Given the description of an element on the screen output the (x, y) to click on. 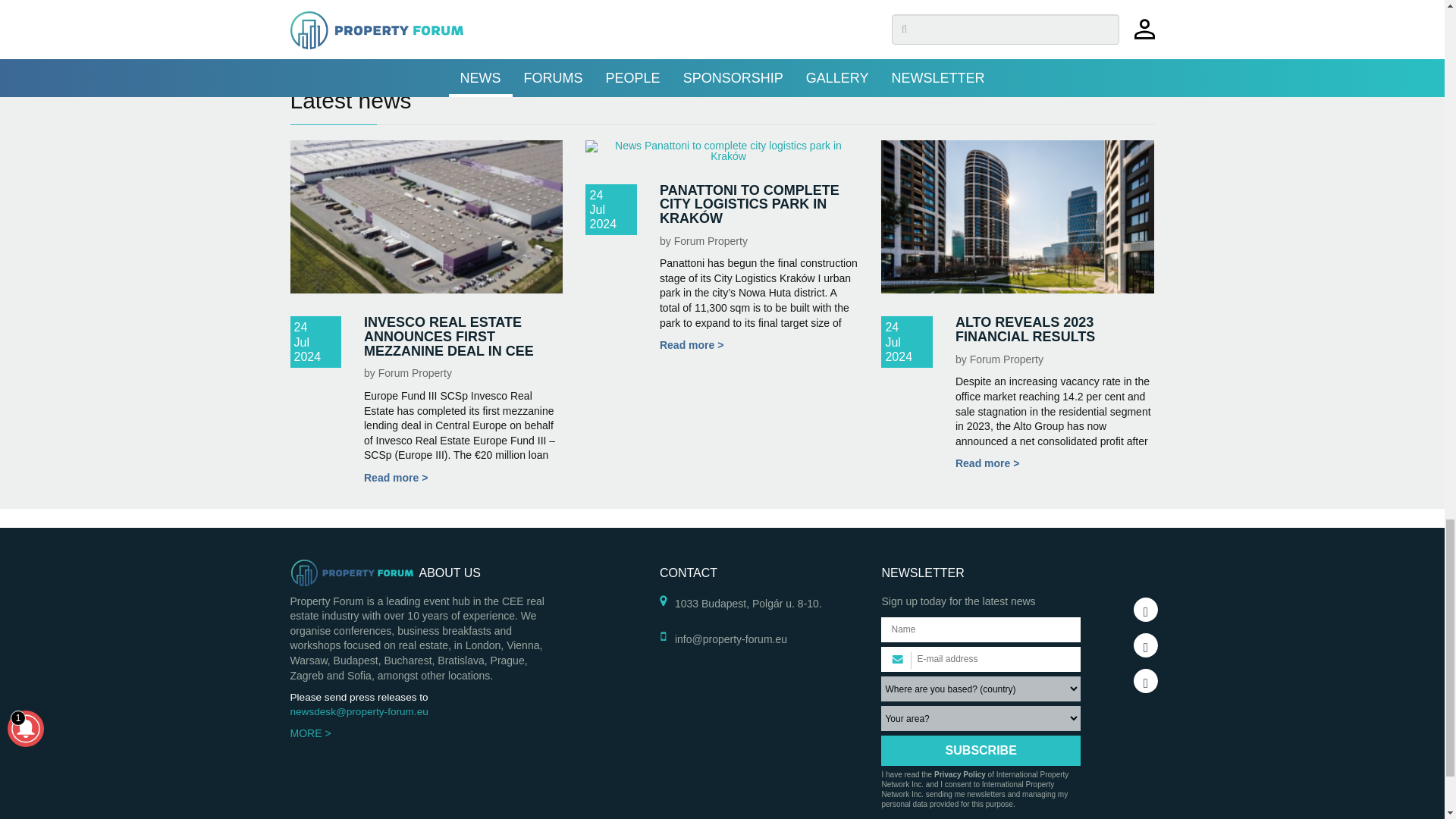
 SUBSCRIBE  (980, 750)
